Given the description of an element on the screen output the (x, y) to click on. 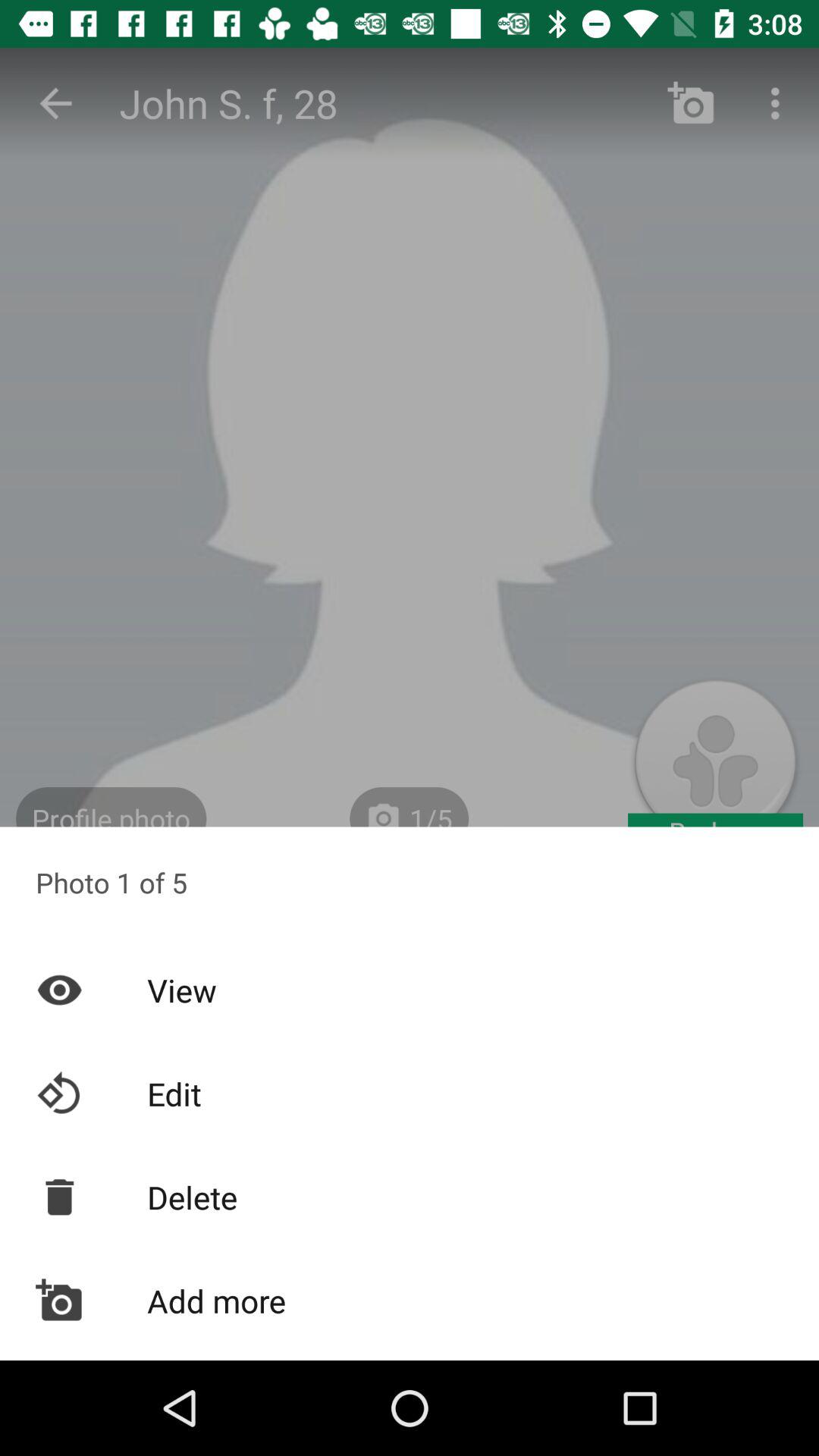
turn on the delete (409, 1196)
